Given the description of an element on the screen output the (x, y) to click on. 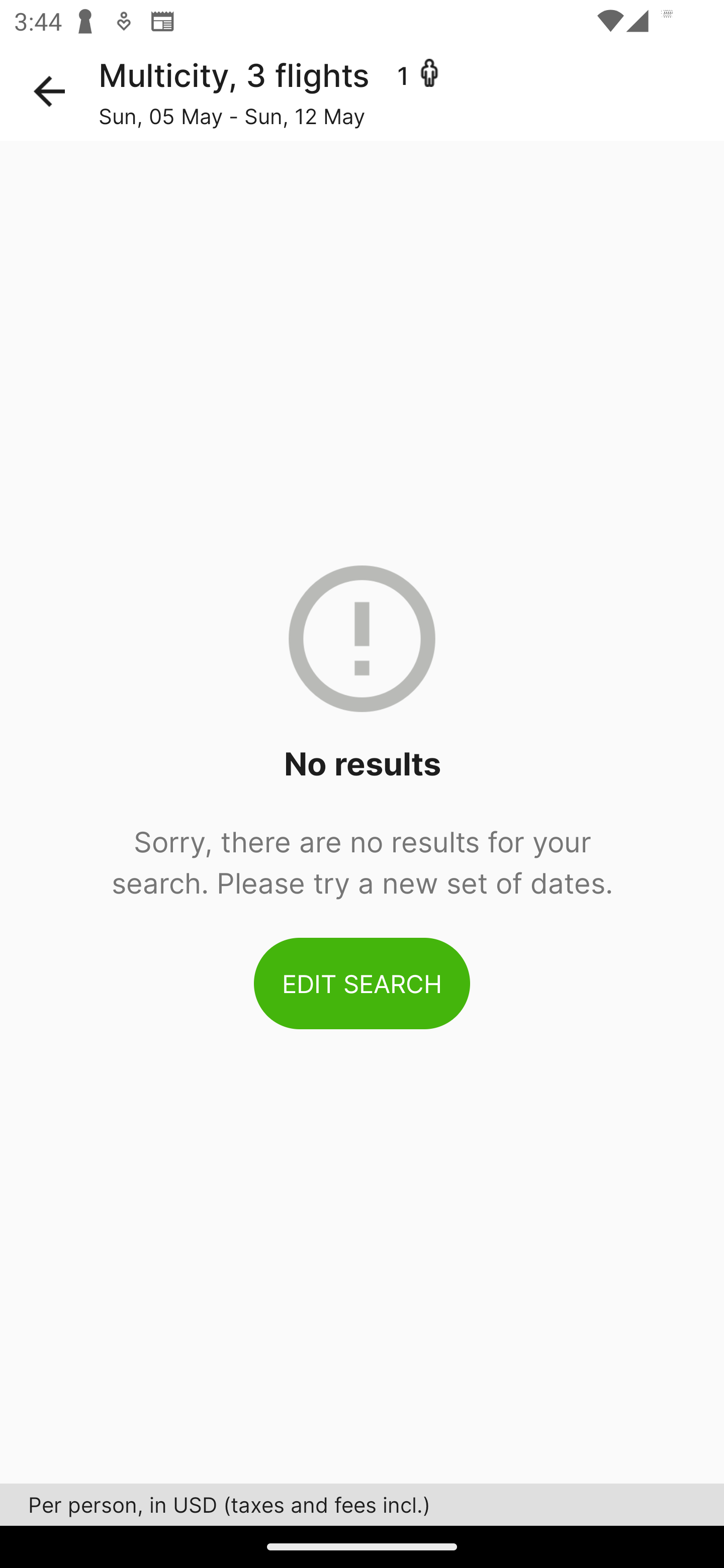
EDIT SEARCH (361, 982)
